Given the description of an element on the screen output the (x, y) to click on. 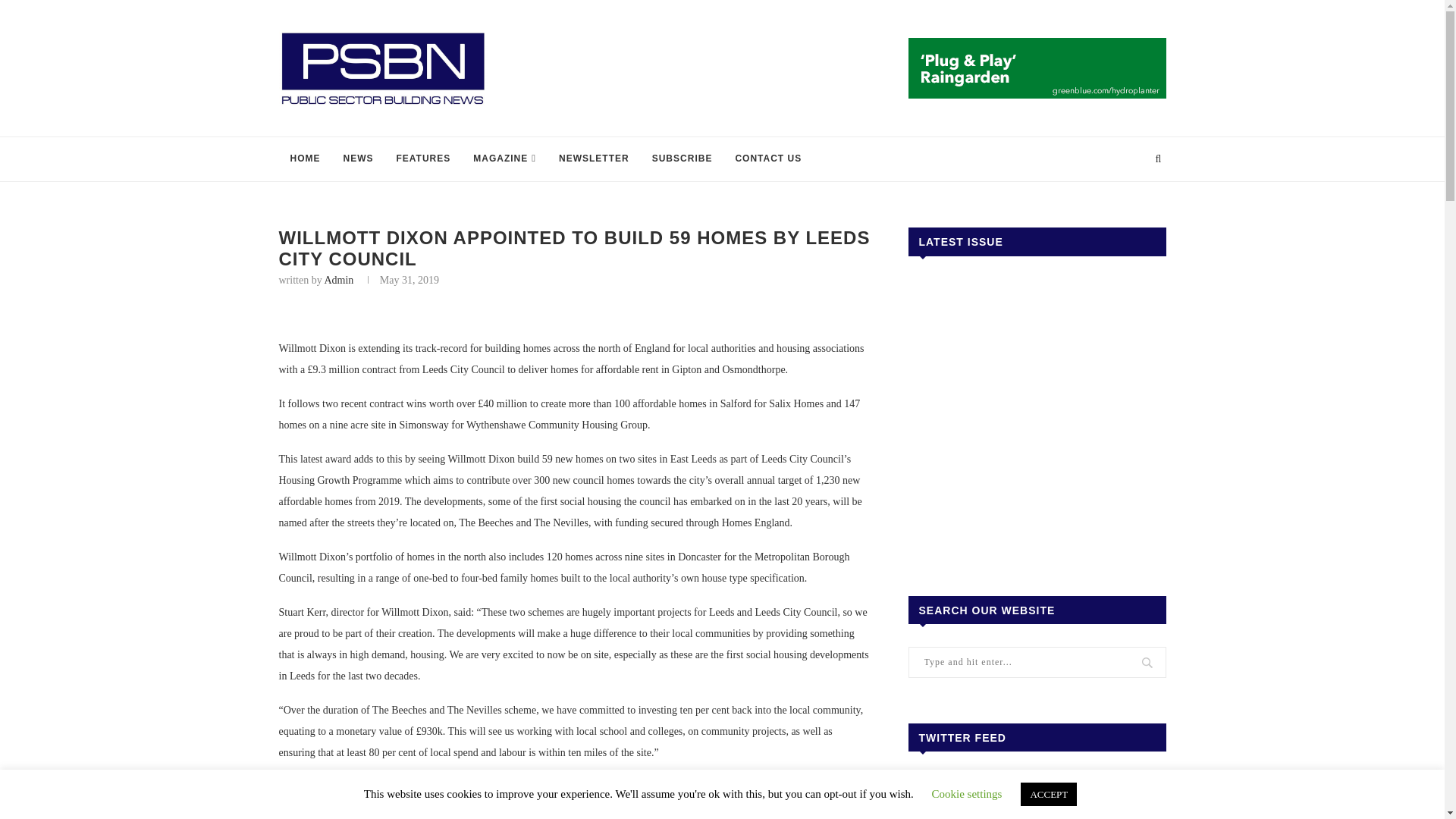
NEWS (358, 158)
FEATURES (424, 158)
MAGAZINE (504, 158)
NEWSLETTER (593, 158)
SUBSCRIBE (681, 158)
CONTACT US (767, 158)
HOME (305, 158)
Admin (338, 279)
